Given the description of an element on the screen output the (x, y) to click on. 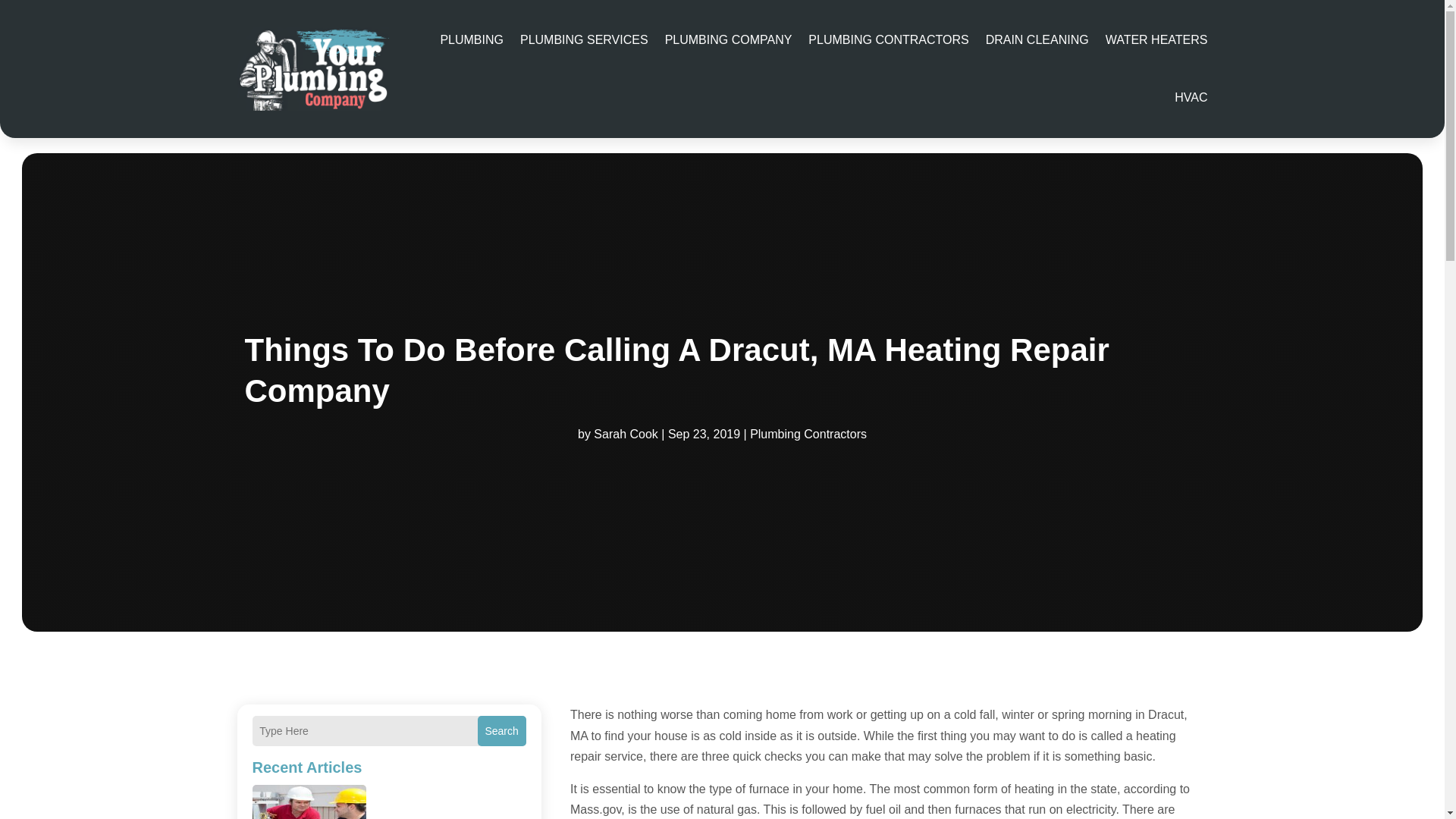
Search (501, 730)
PLUMBING CONTRACTORS (888, 39)
PLUMBING COMPANY (728, 39)
Plumbing Contractors (807, 433)
DRAIN CLEANING (1037, 39)
Sarah Cook (626, 433)
PLUMBING (471, 39)
PLUMBING SERVICES (583, 39)
Posts by Sarah Cook (626, 433)
WATER HEATERS (1156, 39)
